Given the description of an element on the screen output the (x, y) to click on. 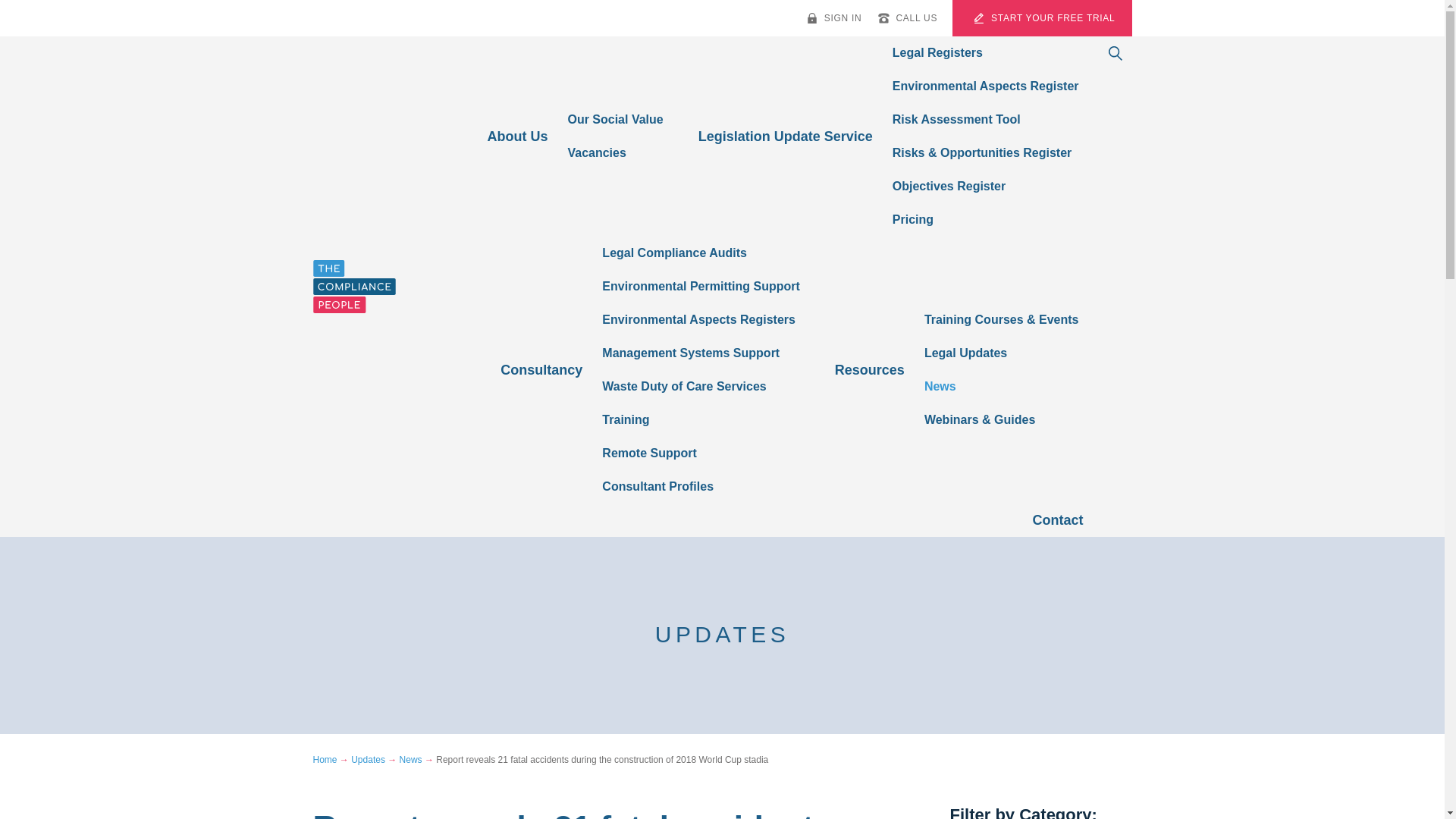
SIGN IN (833, 18)
About Us (516, 136)
Vacancies (614, 152)
Our Social Value (614, 119)
START YOUR FREE TRIAL (1045, 18)
Risk Assessment Tool (985, 119)
Legislation Update Service (785, 136)
Legal Registers (985, 52)
CALL US (906, 18)
Environmental Aspects Register (985, 86)
